Given the description of an element on the screen output the (x, y) to click on. 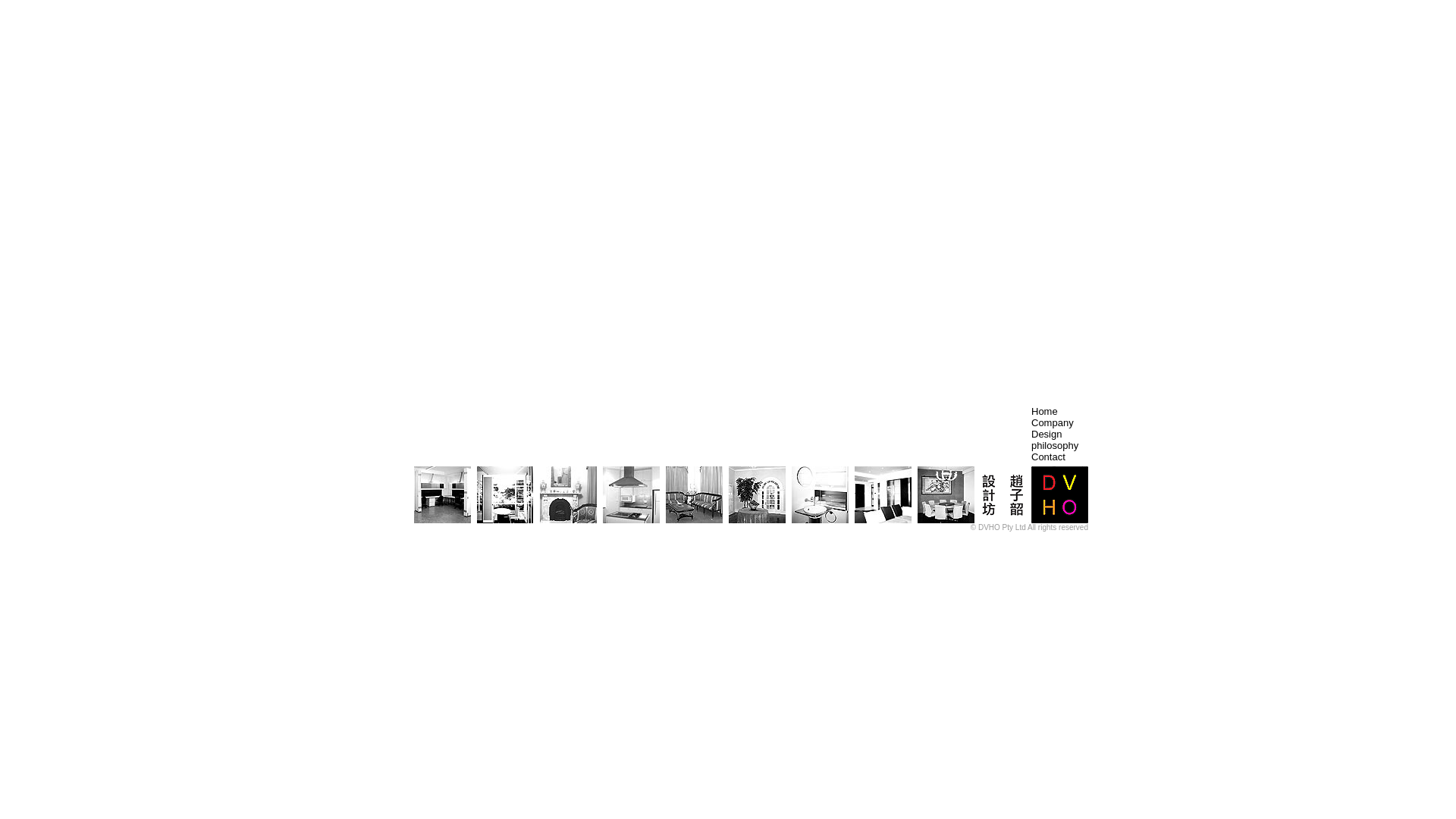
Contact Element type: text (1048, 456)
Design
philosophy Element type: text (1054, 439)
Home Element type: text (1044, 411)
Company Element type: text (1052, 422)
